Given the description of an element on the screen output the (x, y) to click on. 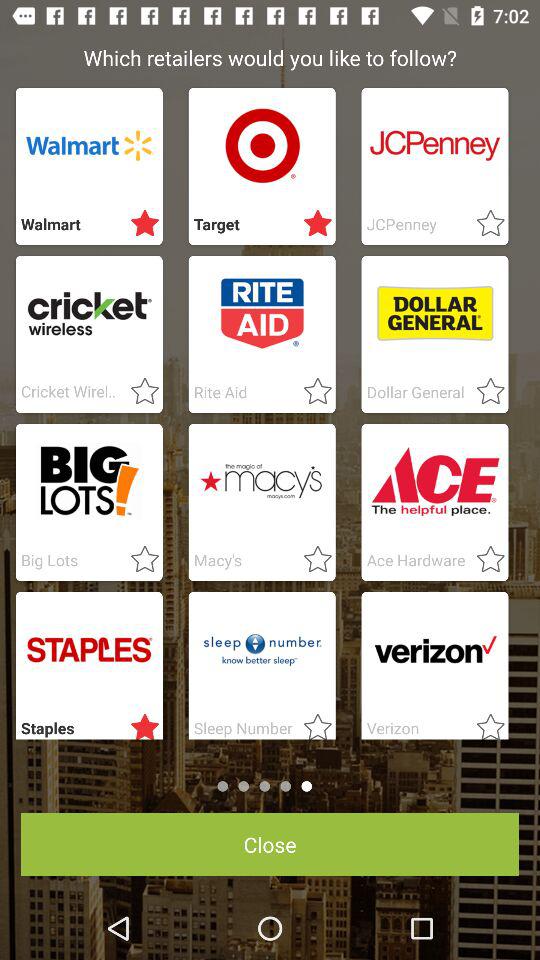
adds to favorites (484, 560)
